Given the description of an element on the screen output the (x, y) to click on. 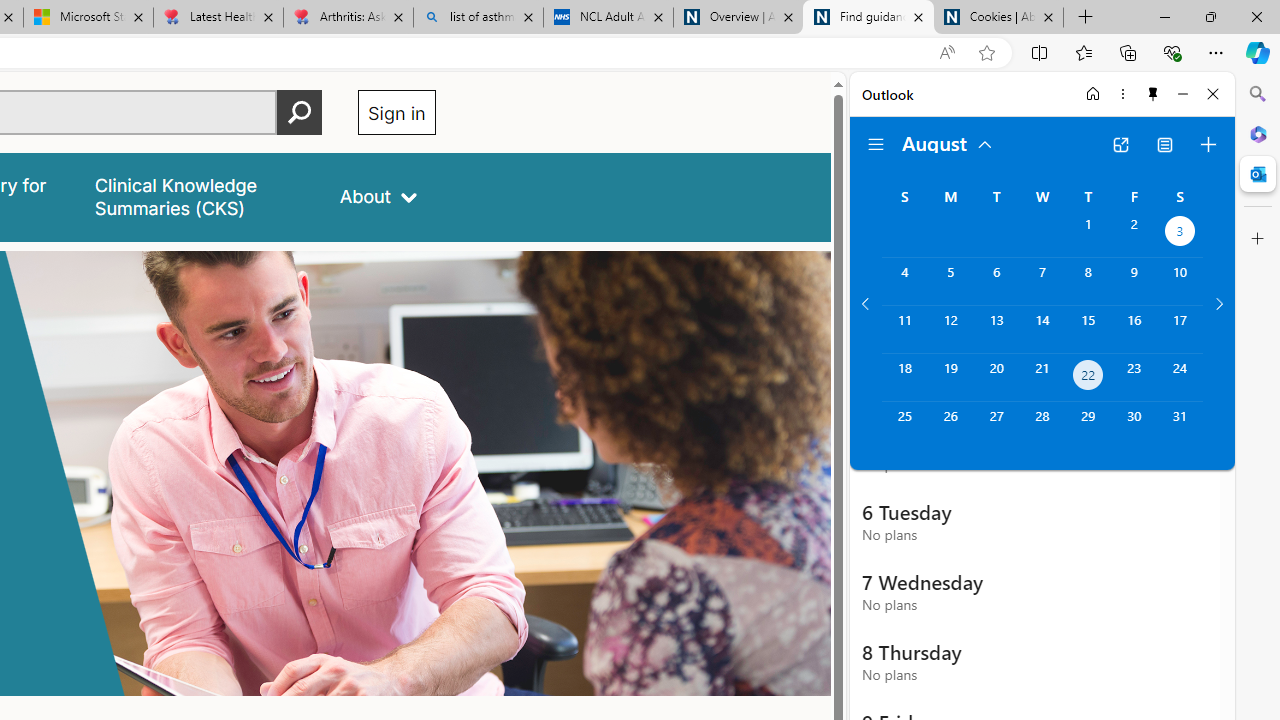
Friday, August 9, 2024.  (1134, 281)
Wednesday, August 21, 2024.  (1042, 377)
false (198, 196)
Sunday, August 25, 2024.  (904, 425)
Saturday, August 17, 2024.  (1180, 329)
Sunday, August 18, 2024.  (904, 377)
Thursday, August 29, 2024.  (1088, 425)
